Given the description of an element on the screen output the (x, y) to click on. 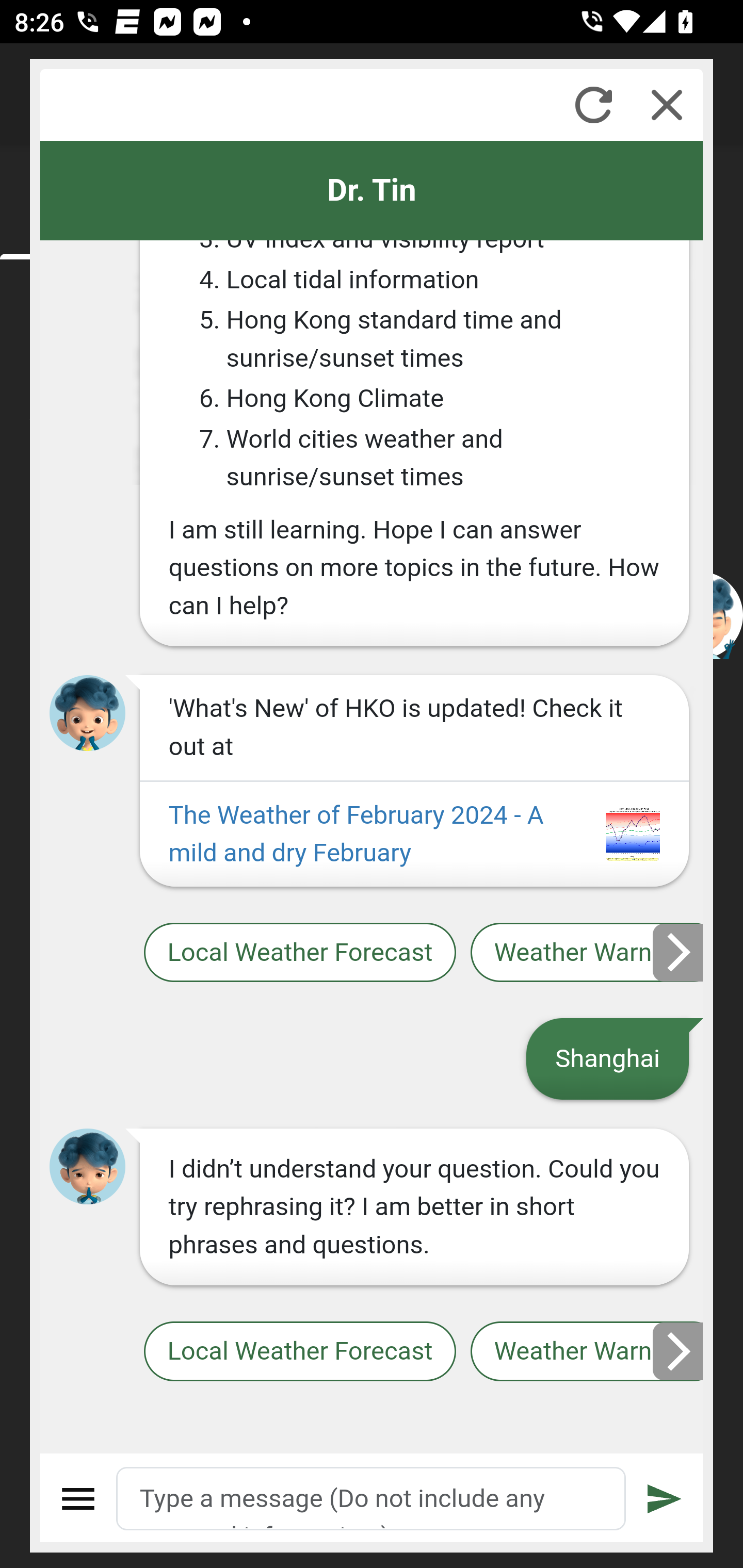
Refresh (593, 104)
Close (666, 104)
Local Weather Forecast (299, 951)
Weather Warnings (587, 951)
Next slide (678, 951)
Local Weather Forecast (299, 1351)
Weather Warnings (587, 1351)
Next slide (678, 1351)
Menu (78, 1498)
Submit (665, 1498)
